Given the description of an element on the screen output the (x, y) to click on. 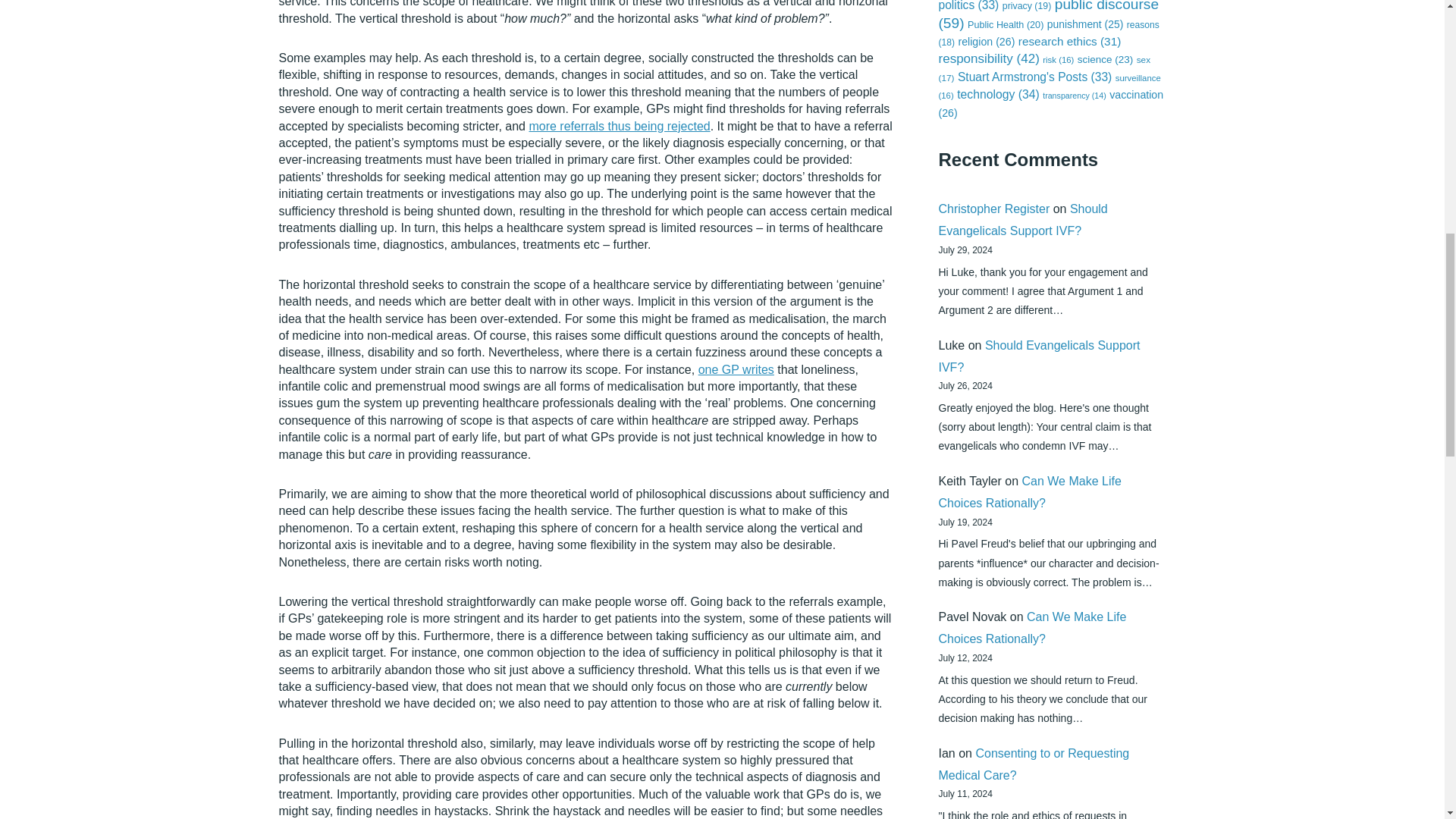
one GP writes (736, 369)
more referrals thus being rejected (619, 125)
